Given the description of an element on the screen output the (x, y) to click on. 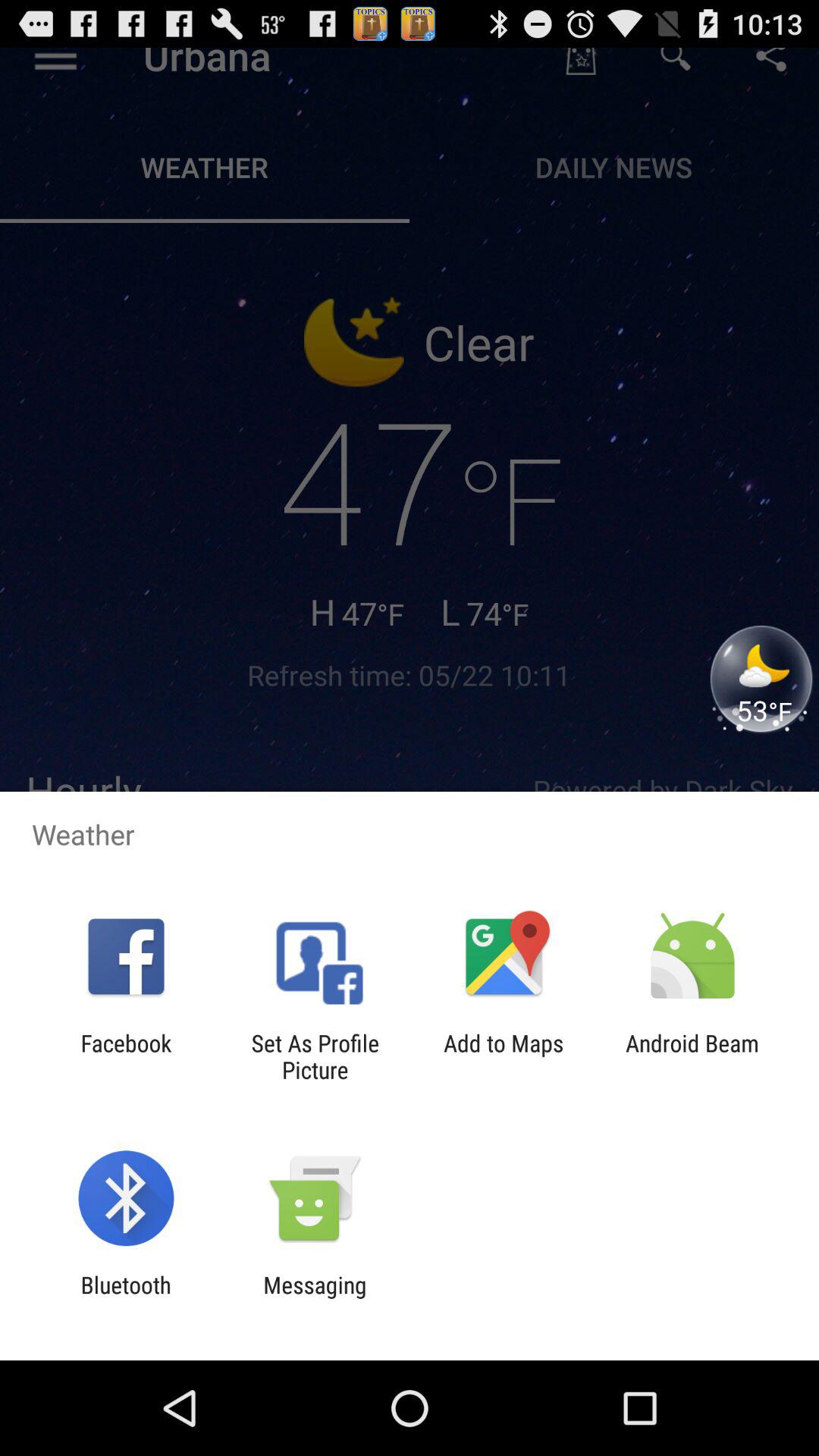
swipe to the add to maps icon (503, 1056)
